Given the description of an element on the screen output the (x, y) to click on. 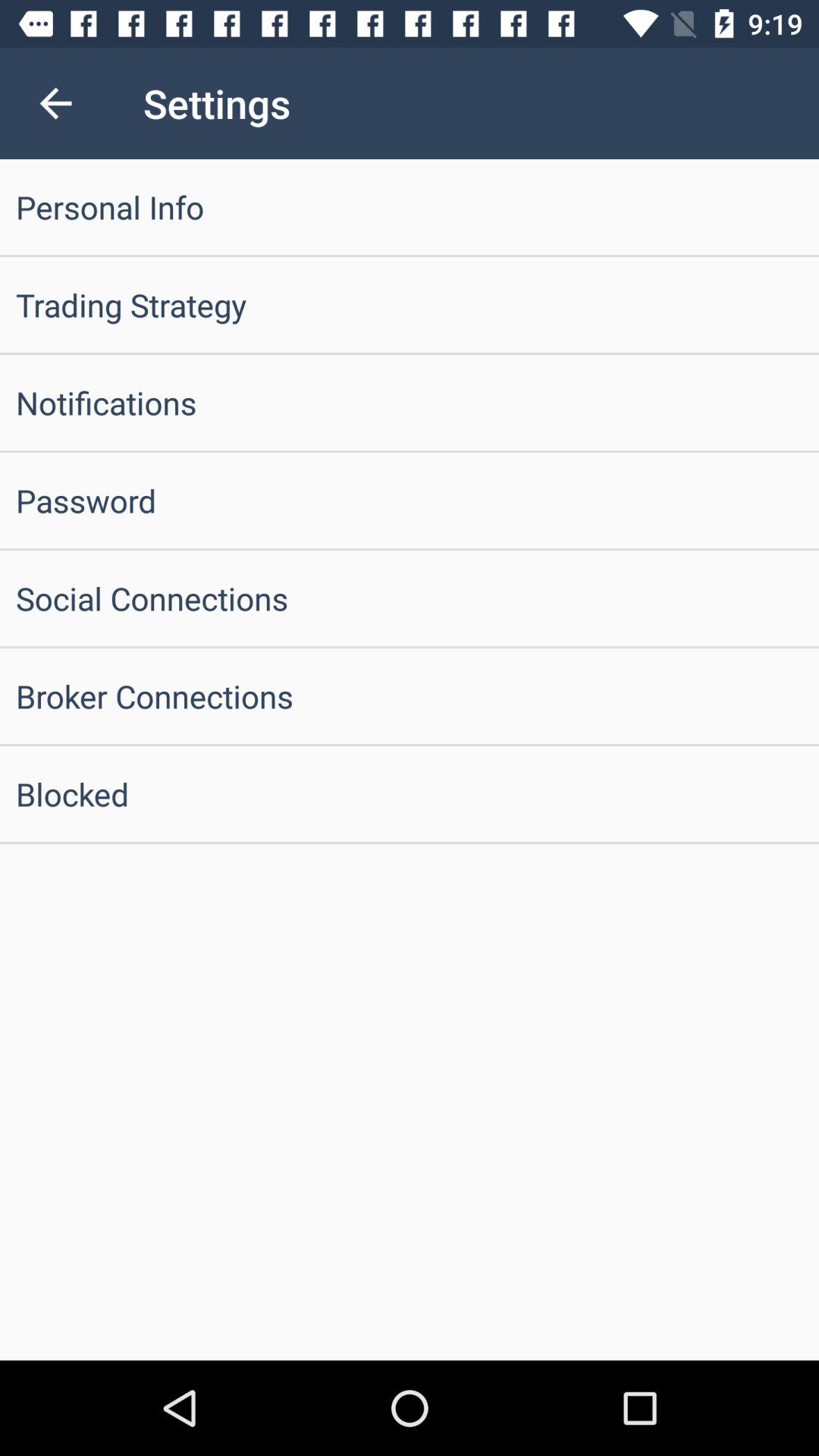
launch the icon below the social connections item (409, 695)
